Given the description of an element on the screen output the (x, y) to click on. 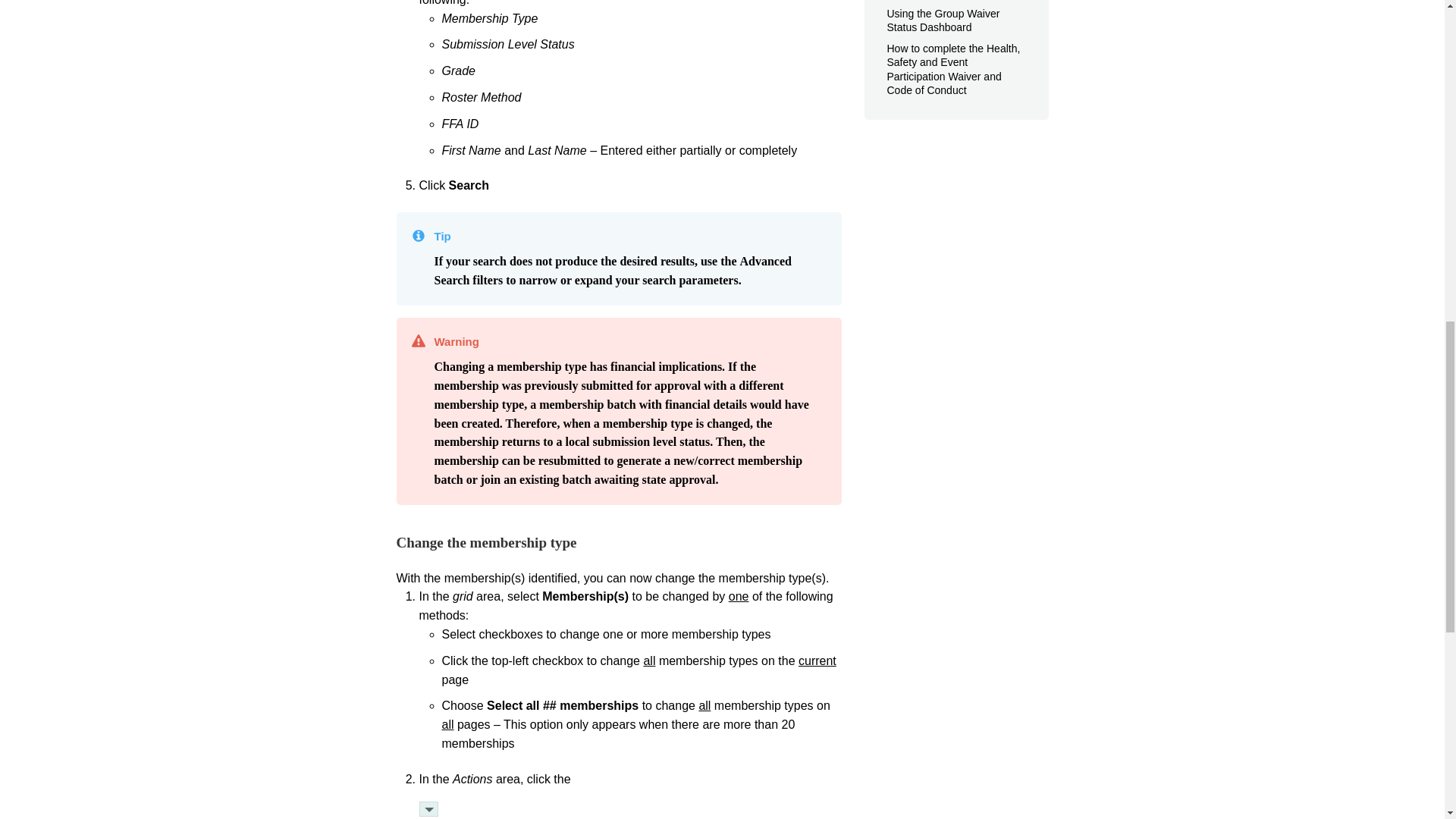
Using the Group Waiver Status Dashboard (943, 20)
